Given the description of an element on the screen output the (x, y) to click on. 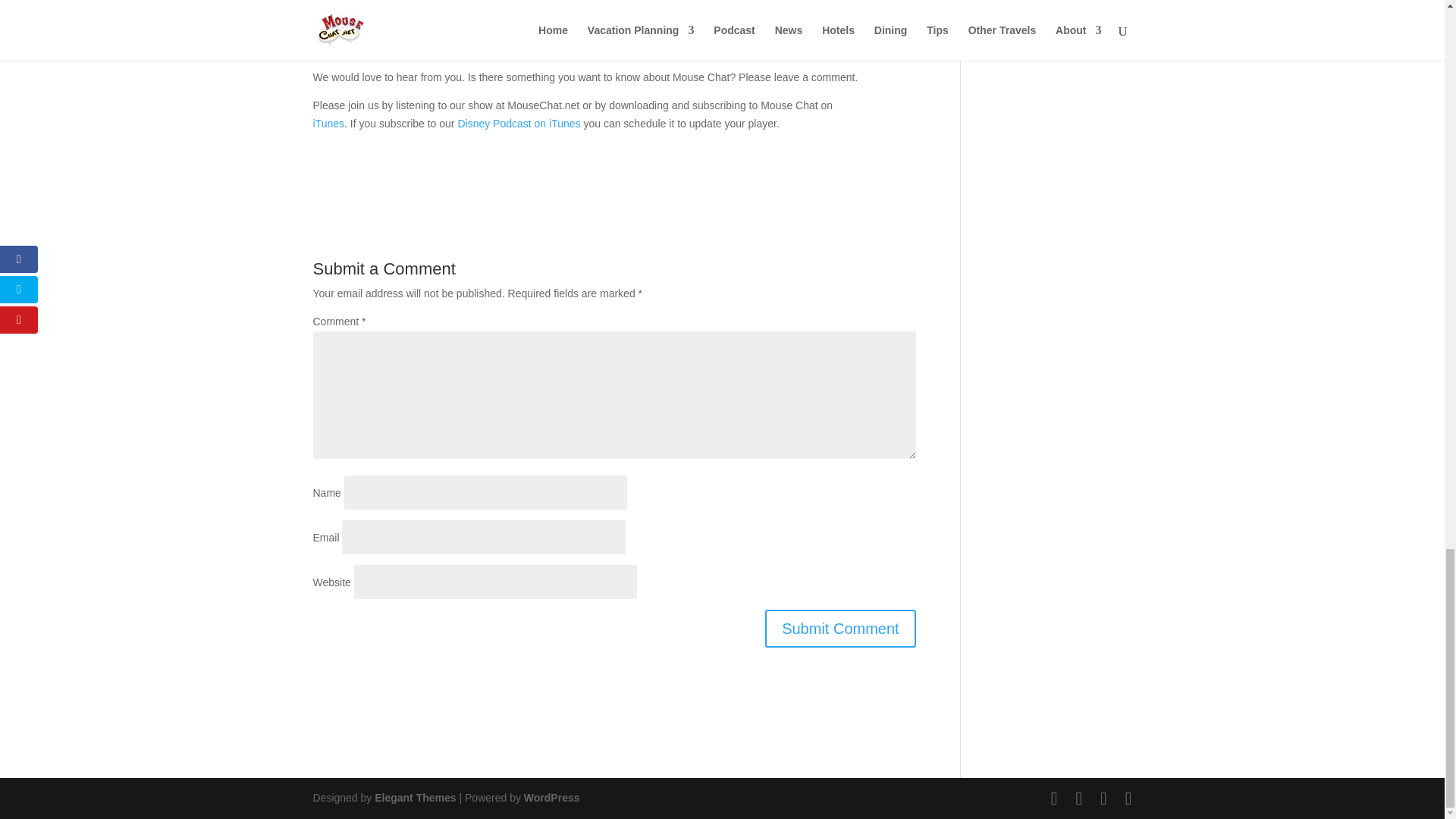
Submit Comment (840, 628)
Premium WordPress Themes (382, 39)
Disney Podcast on iTunes (414, 797)
Mouse Chat Instagram (518, 123)
Submit Comment (369, 11)
iTunes (840, 628)
